Given the description of an element on the screen output the (x, y) to click on. 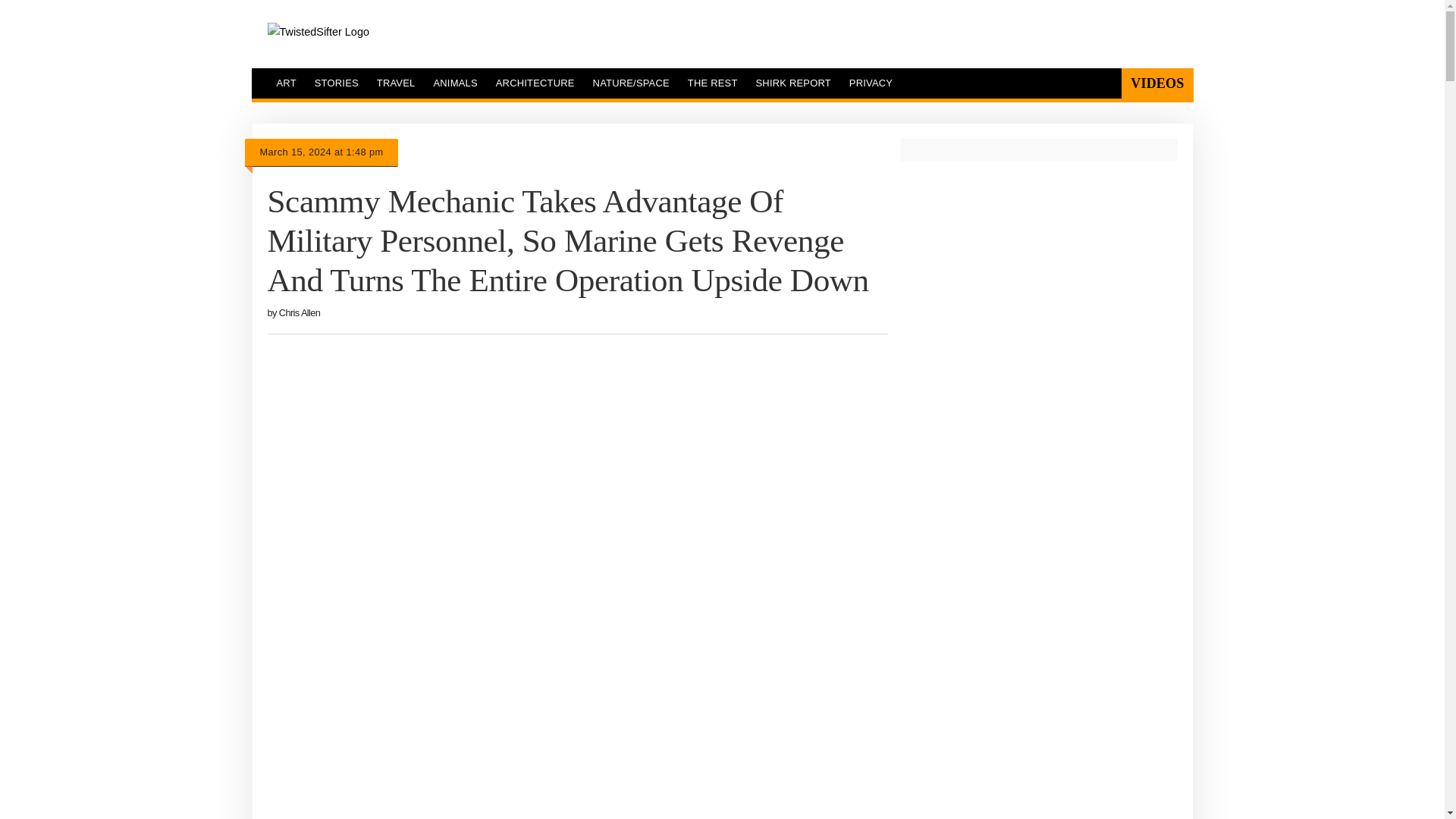
VIDEOS (1156, 82)
TRAVEL (396, 82)
SHIRK REPORT (793, 82)
ART (285, 82)
Home (317, 31)
THE REST (712, 82)
STORIES (336, 82)
ANIMALS (454, 82)
PRIVACY (870, 82)
